Given the description of an element on the screen output the (x, y) to click on. 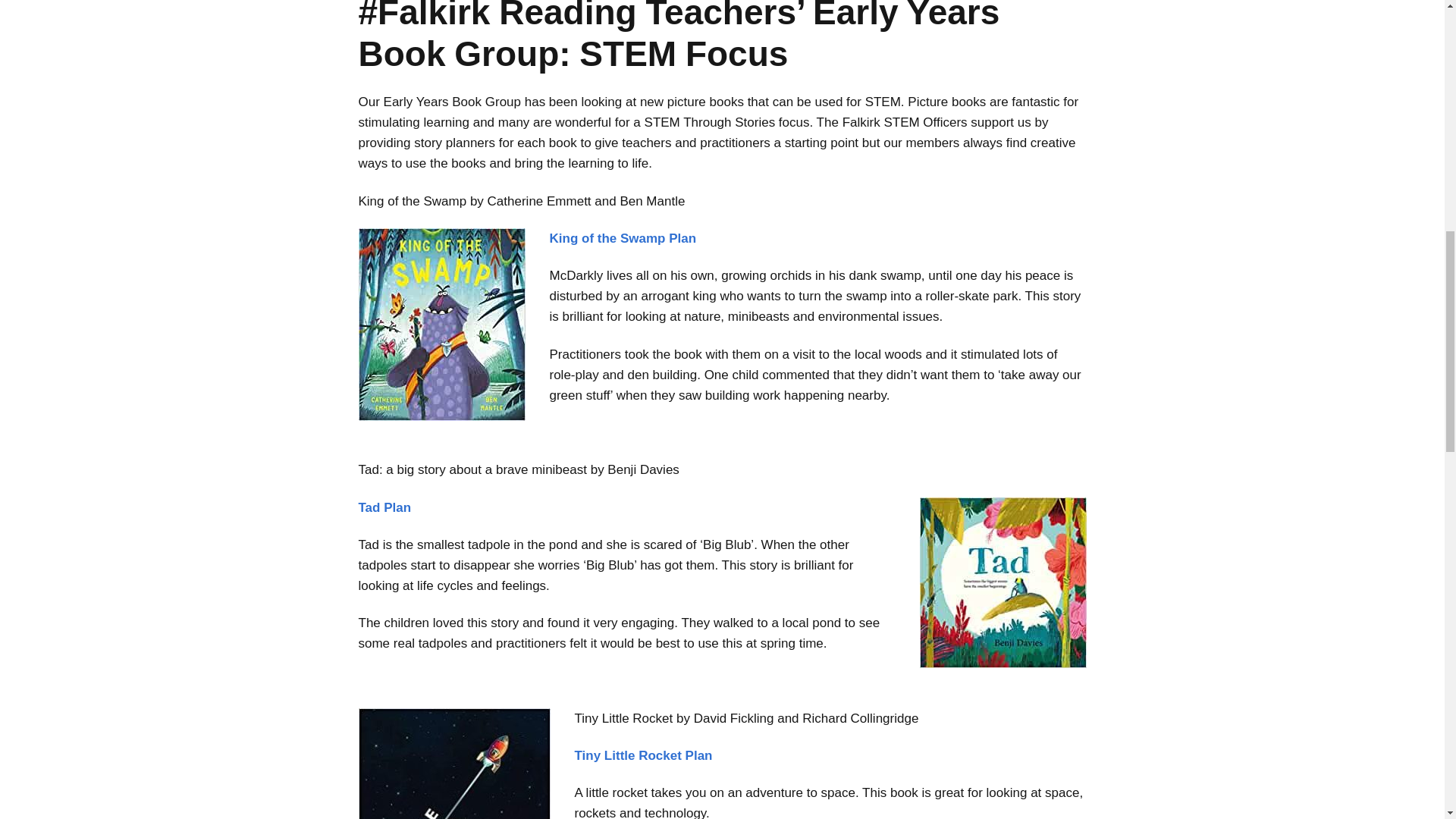
Tad Plan (384, 507)
King of the Swamp Plan (621, 237)
Tiny Little Rocket Plan (644, 755)
